Given the description of an element on the screen output the (x, y) to click on. 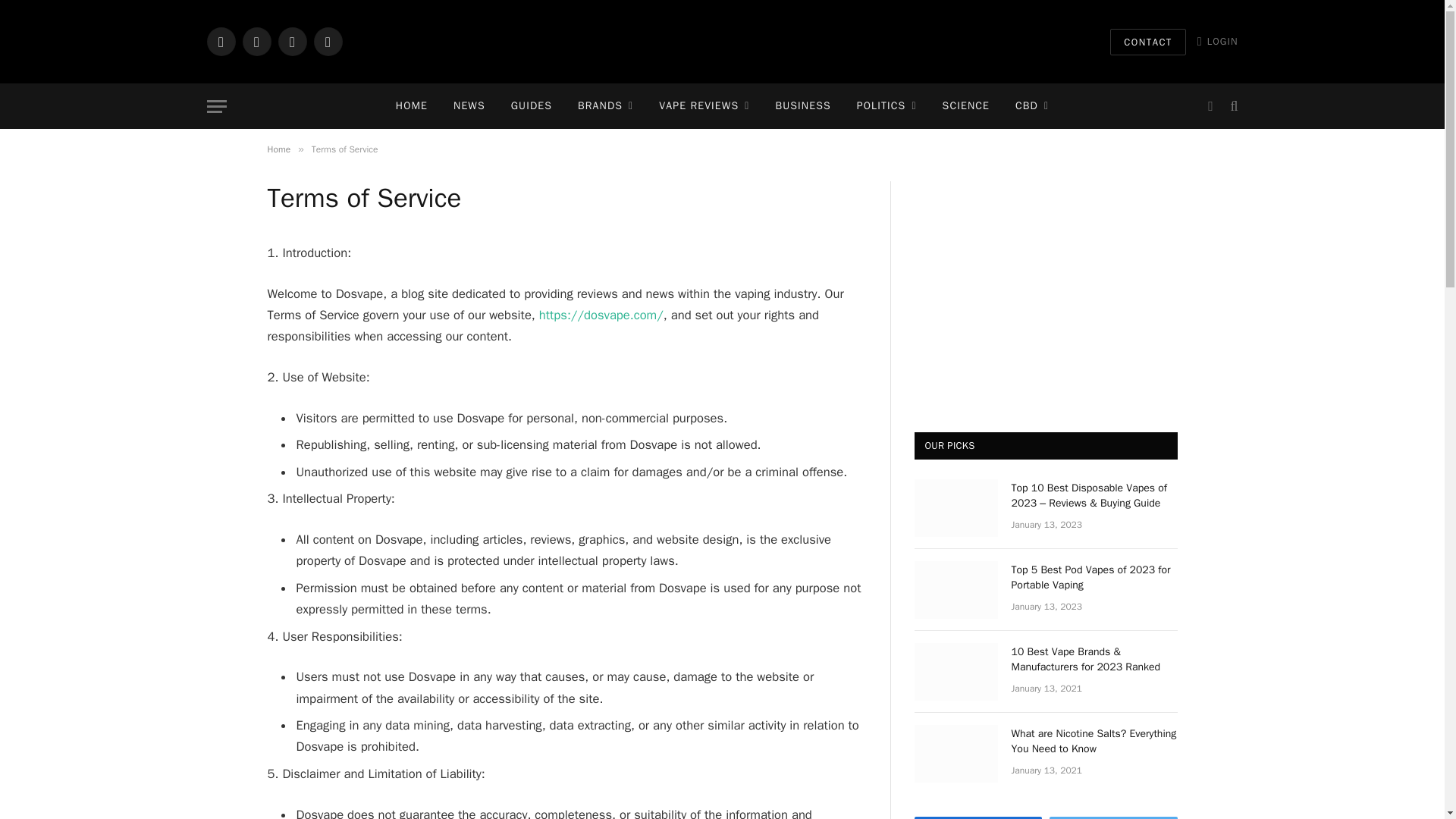
CONTACT (1147, 41)
Instagram (291, 41)
BRANDS (605, 105)
LOGIN (1217, 41)
Facebook (220, 41)
Telegram (328, 41)
NEWS (469, 105)
GUIDES (530, 105)
VAPE REVIEWS (703, 105)
HOME (411, 105)
